Given the description of an element on the screen output the (x, y) to click on. 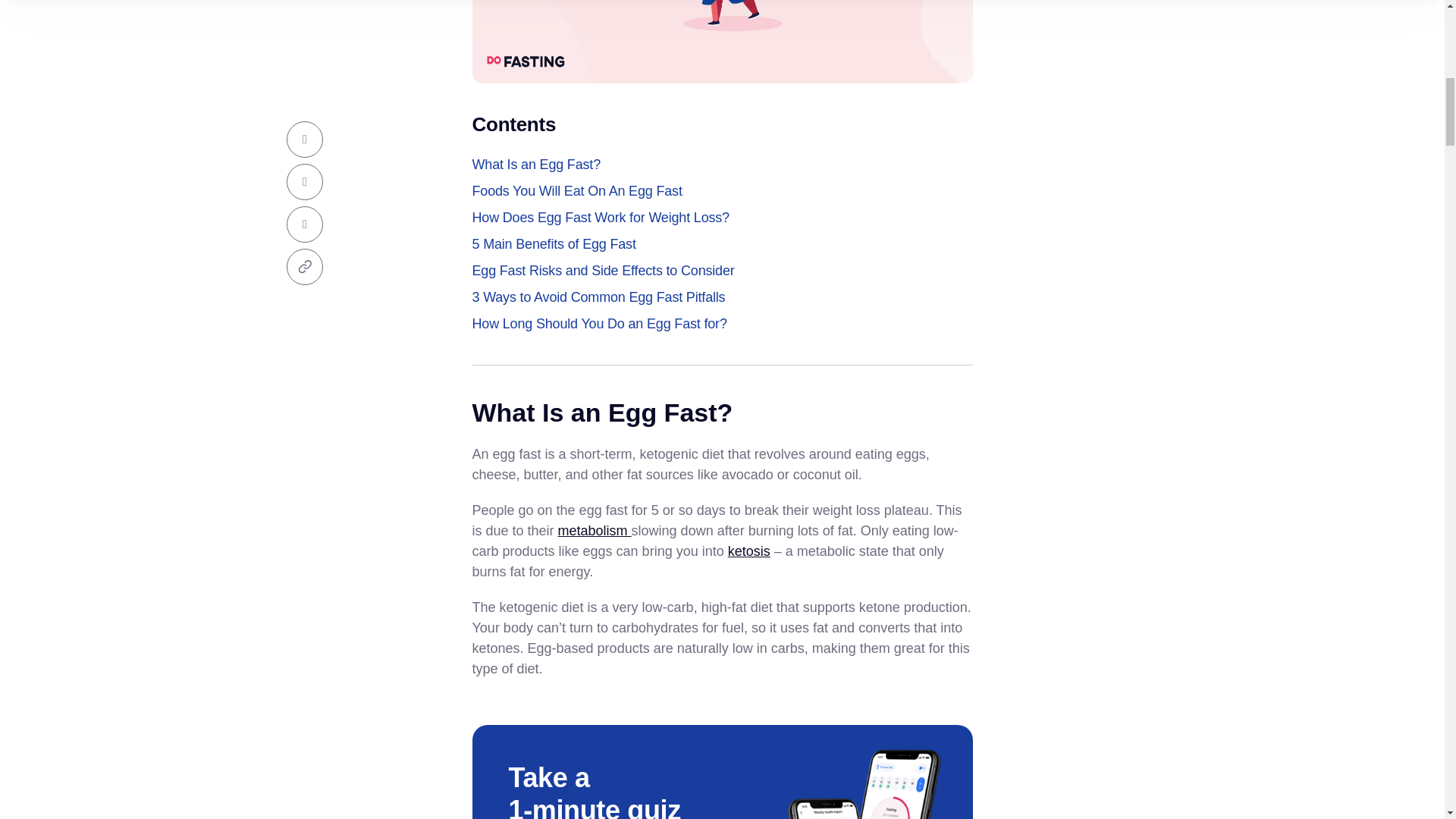
What Is an Egg Fast? (535, 164)
How Does Egg Fast Work for Weight Loss? (600, 218)
3 Ways to Avoid Common Egg Fast Pitfalls (598, 297)
5 Main Benefits of Egg Fast (552, 244)
How Long Should You Do an Egg Fast for? (598, 323)
Egg Fast Risks and Side Effects to Consider (602, 271)
Foods You Will Eat On An Egg Fast (576, 190)
